Given the description of an element on the screen output the (x, y) to click on. 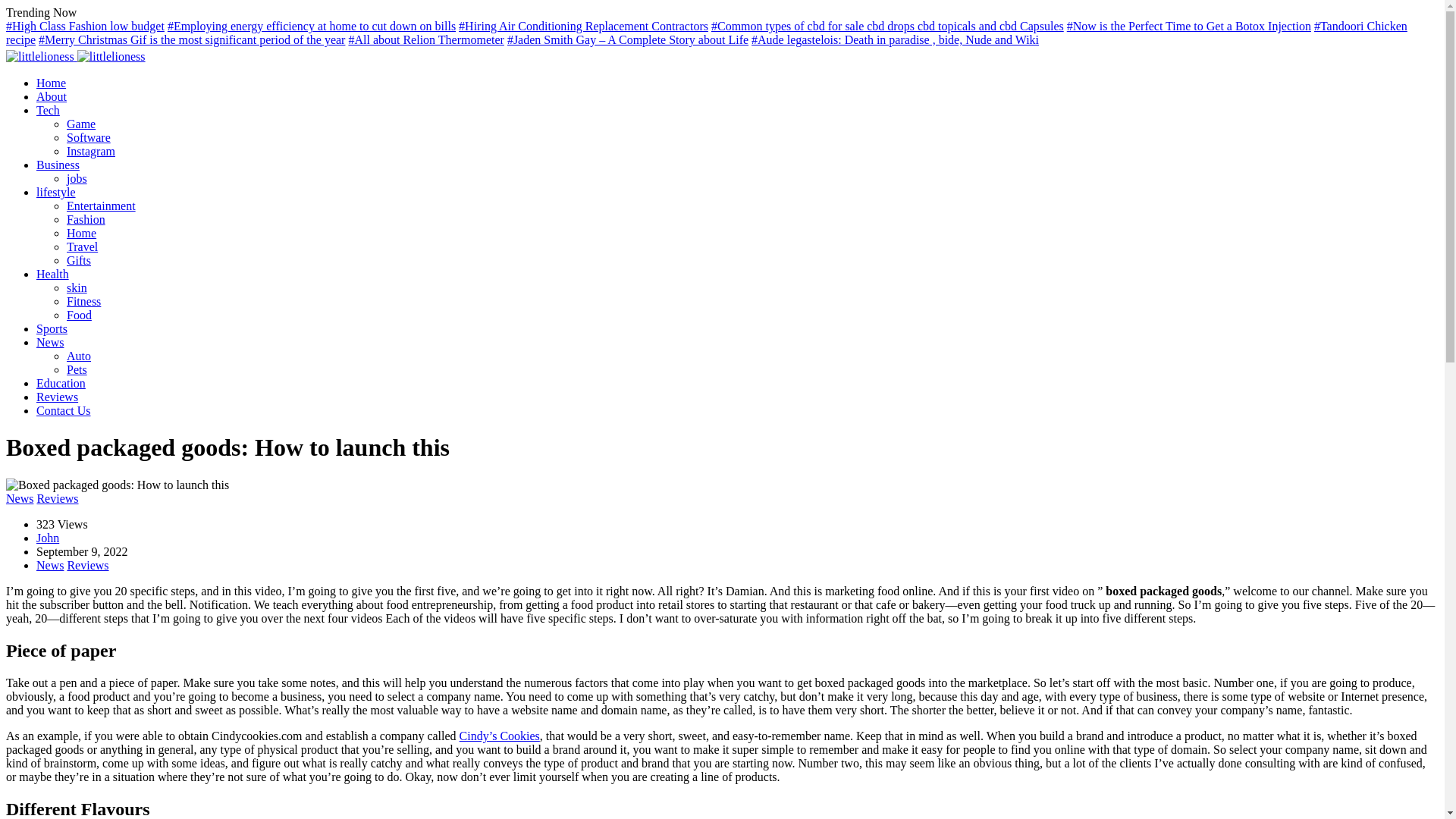
Education (60, 382)
Fitness (83, 300)
Game (81, 123)
News (19, 498)
Health (52, 273)
Auto (78, 355)
News (50, 341)
Instagram (90, 151)
Travel (81, 246)
Gifts (78, 259)
Pets (76, 369)
Home (50, 82)
Software (88, 137)
Business (58, 164)
Contact Us (63, 410)
